Given the description of an element on the screen output the (x, y) to click on. 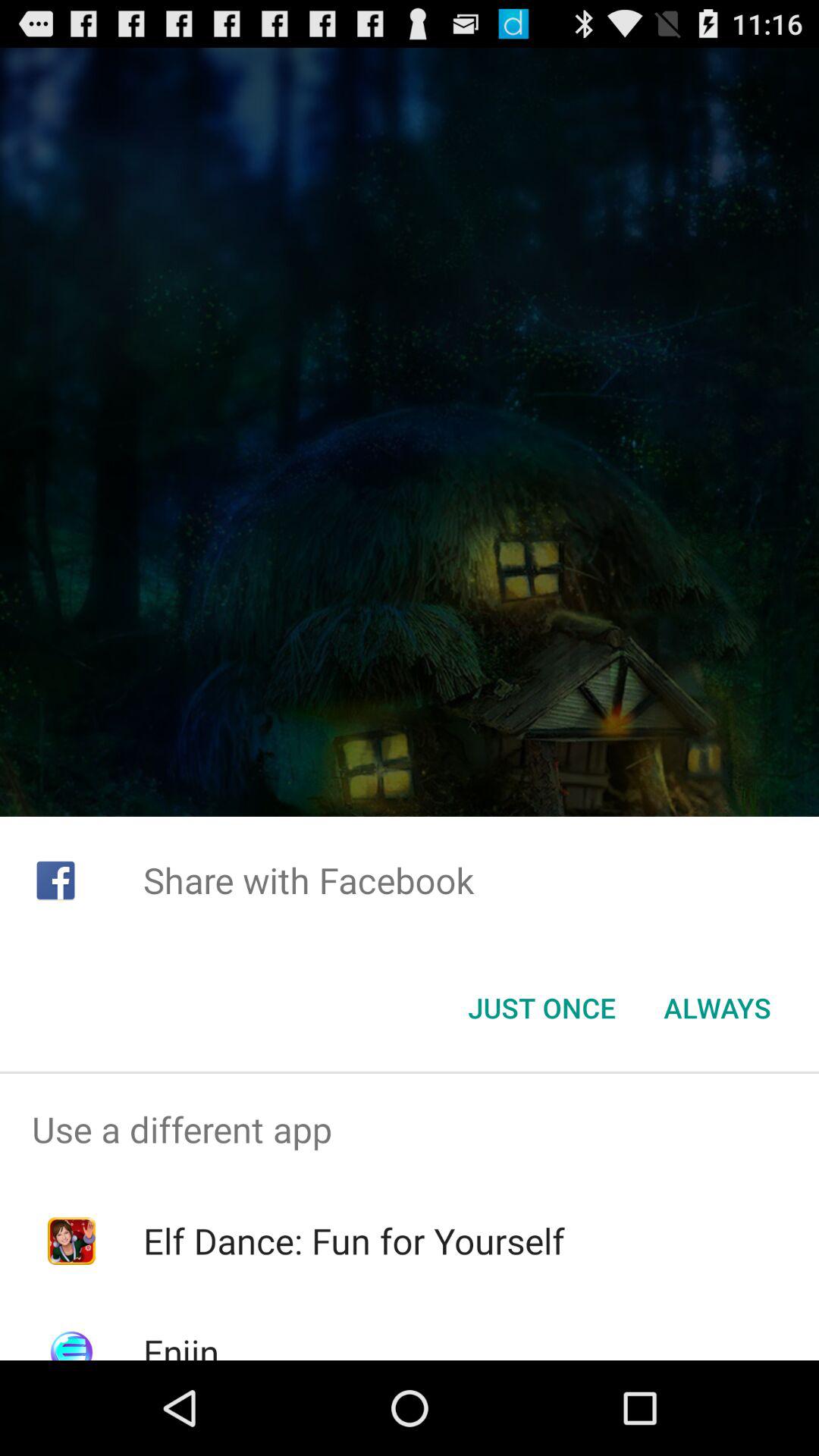
flip to the always button (717, 1007)
